Given the description of an element on the screen output the (x, y) to click on. 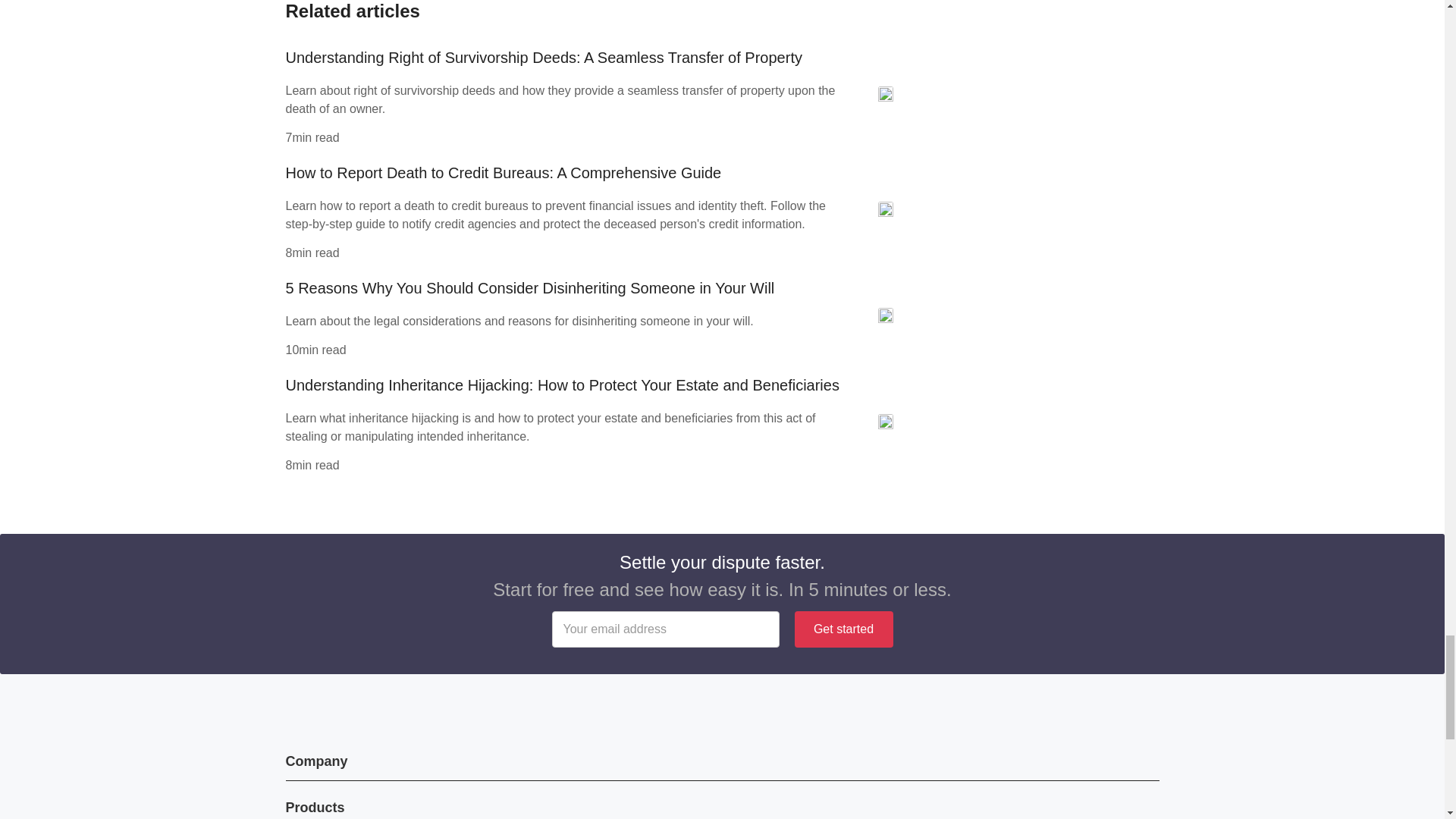
Get started (843, 628)
Get started (843, 628)
